Given the description of an element on the screen output the (x, y) to click on. 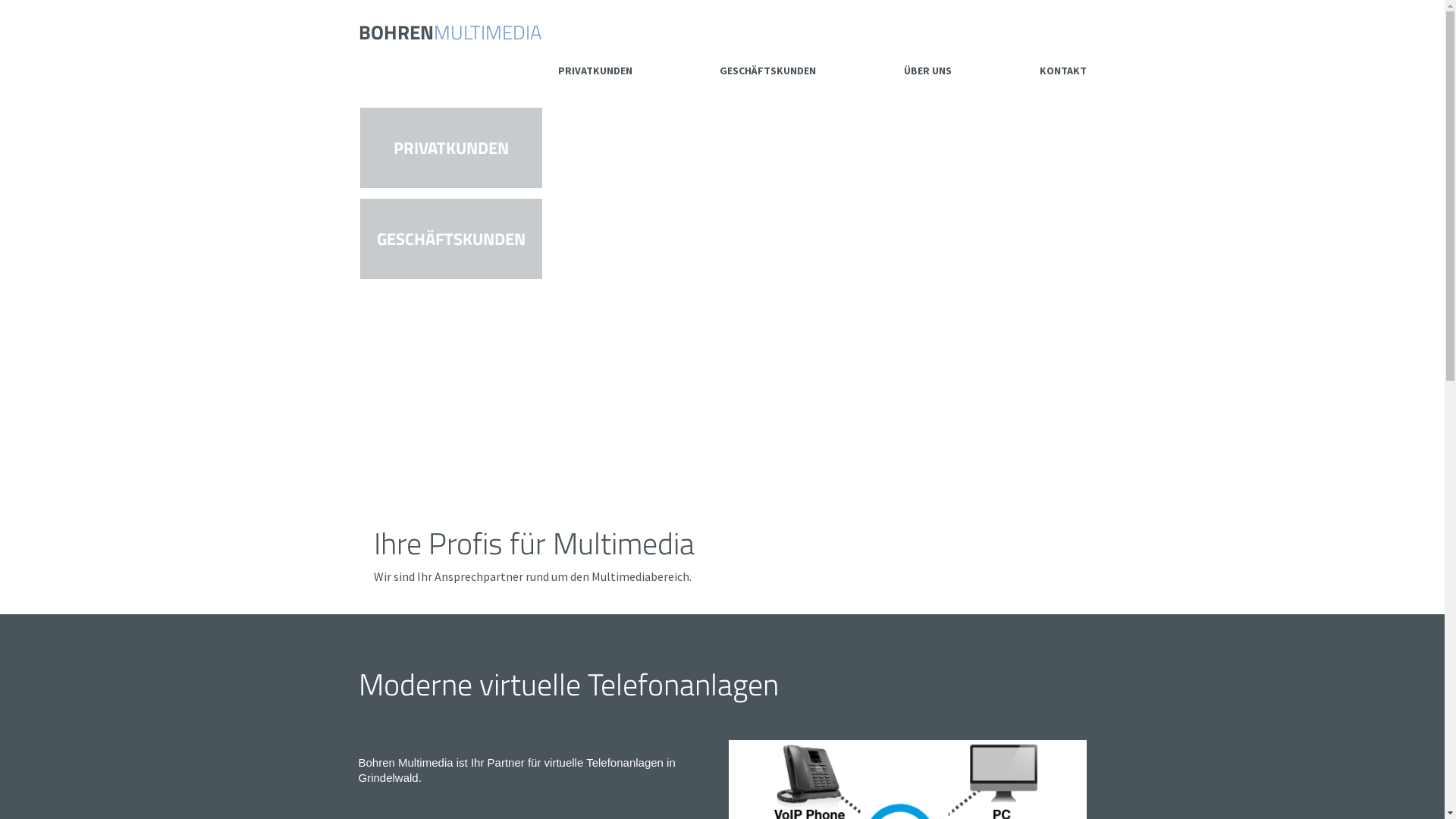
PRIVATKUNDEN Element type: text (449, 147)
KONTAKT Element type: text (1061, 70)
PRIVATKUNDEN Element type: text (595, 70)
BOHRENMULTIMEDIA Element type: text (448, 28)
